Given the description of an element on the screen output the (x, y) to click on. 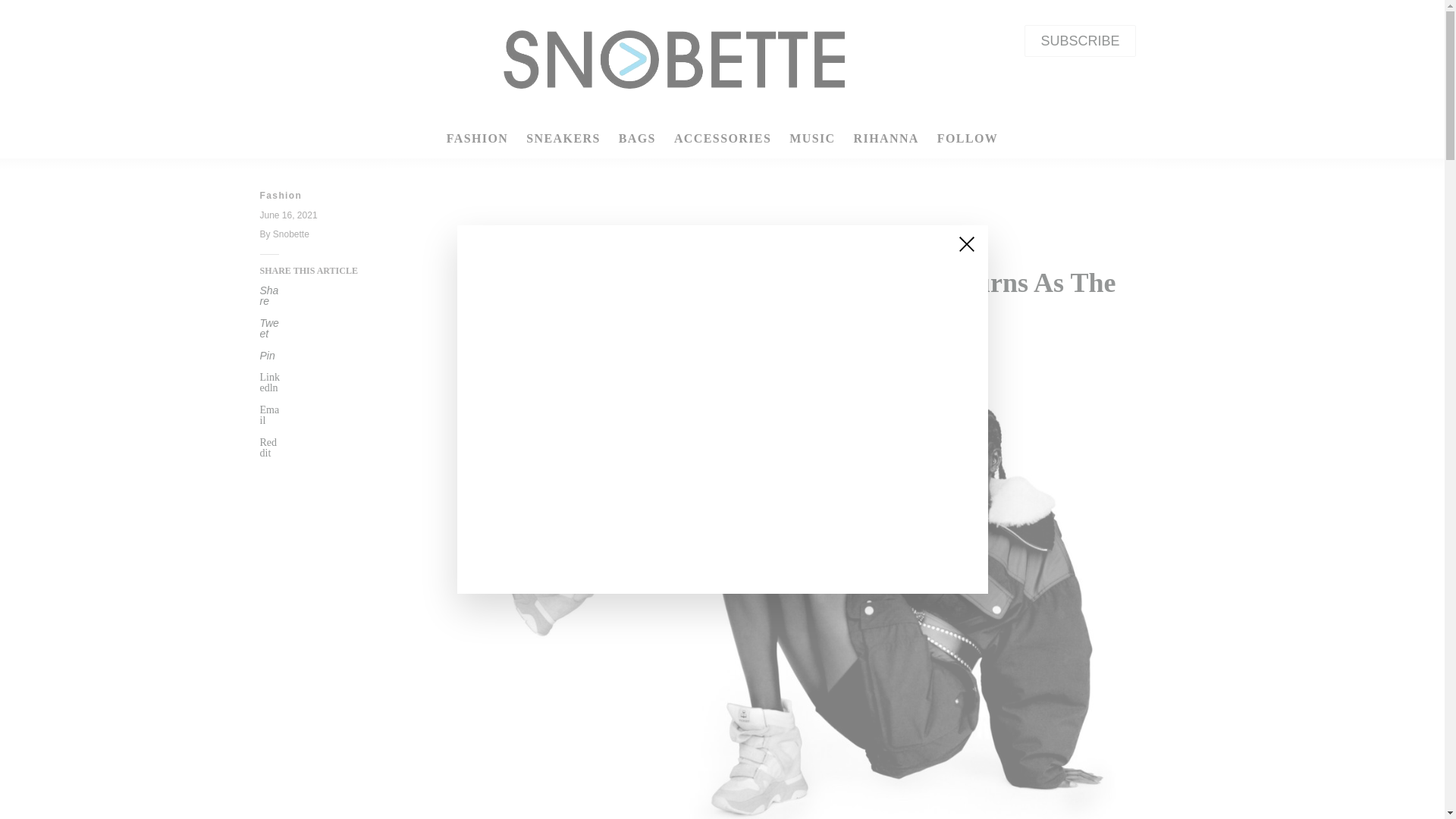
Reddit (333, 447)
FOLLOW (967, 138)
FASHION (478, 138)
SUBSCRIBE (1080, 40)
FASHION (796, 250)
Email (333, 414)
BAGS (637, 138)
SNEAKERS (562, 138)
ACCESSORIES (722, 138)
Pin (333, 355)
Fashion (333, 196)
Tweet (333, 328)
Linkedln (333, 382)
Share (333, 295)
